Given the description of an element on the screen output the (x, y) to click on. 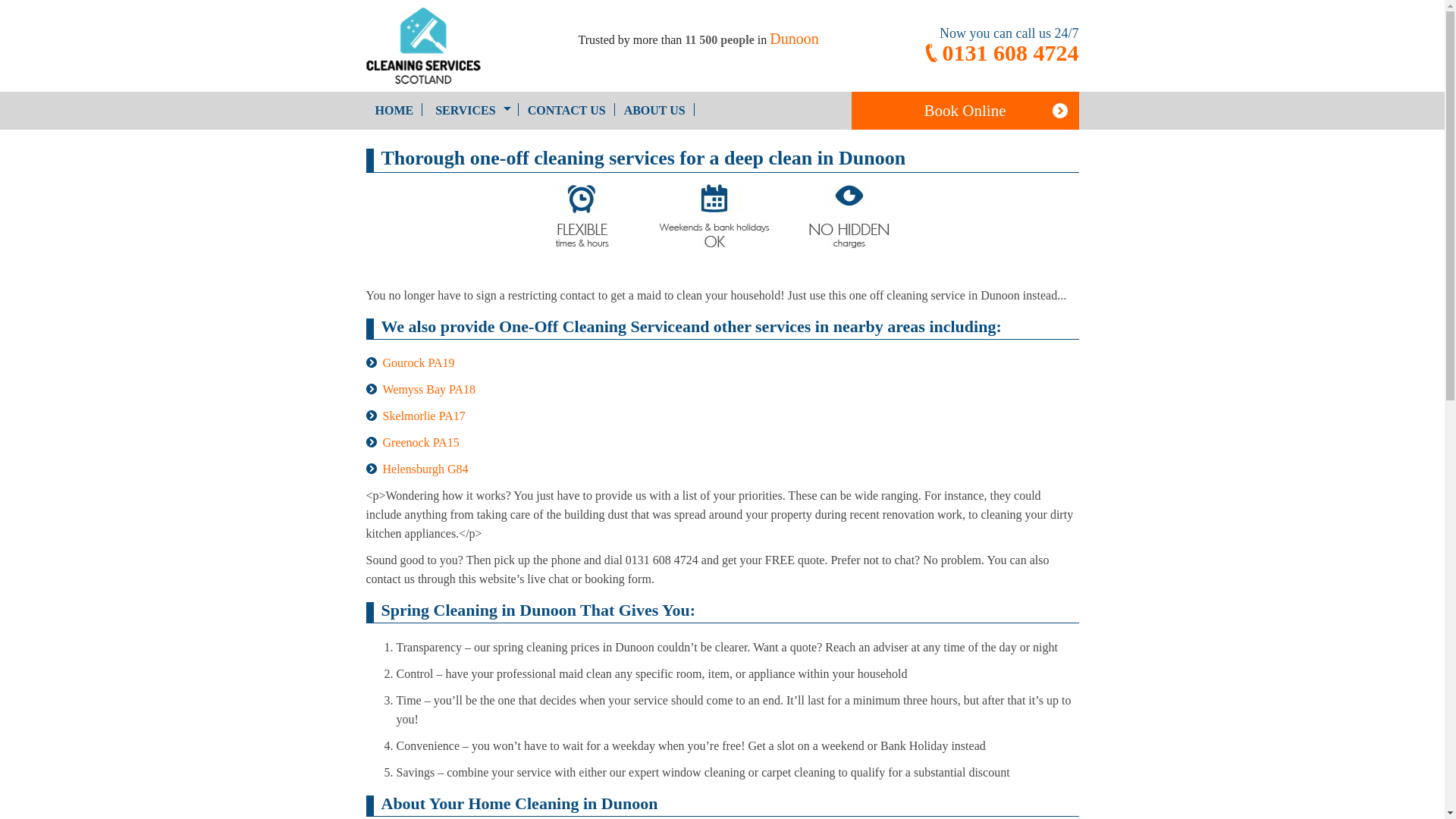
0131 608 4724 (999, 53)
Gourock PA19 (417, 362)
CleaningServices (448, 45)
ABOUT US (654, 109)
Greenock PA15 (419, 441)
Wemyss Bay PA18 (428, 389)
Book Online (964, 110)
